Given the description of an element on the screen output the (x, y) to click on. 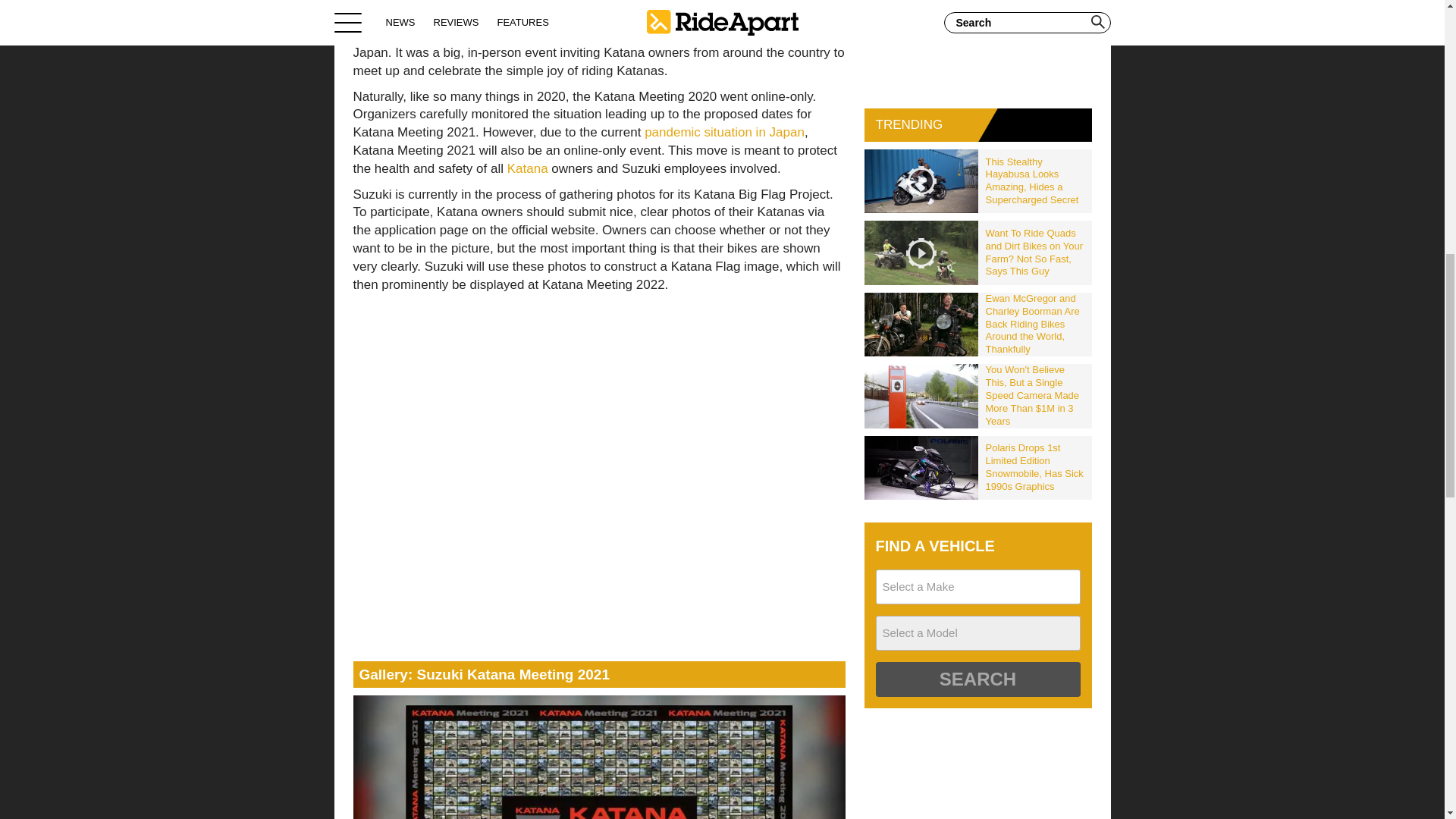
pandemic situation in Japan (725, 132)
Katana (527, 168)
Search (977, 678)
